Given the description of an element on the screen output the (x, y) to click on. 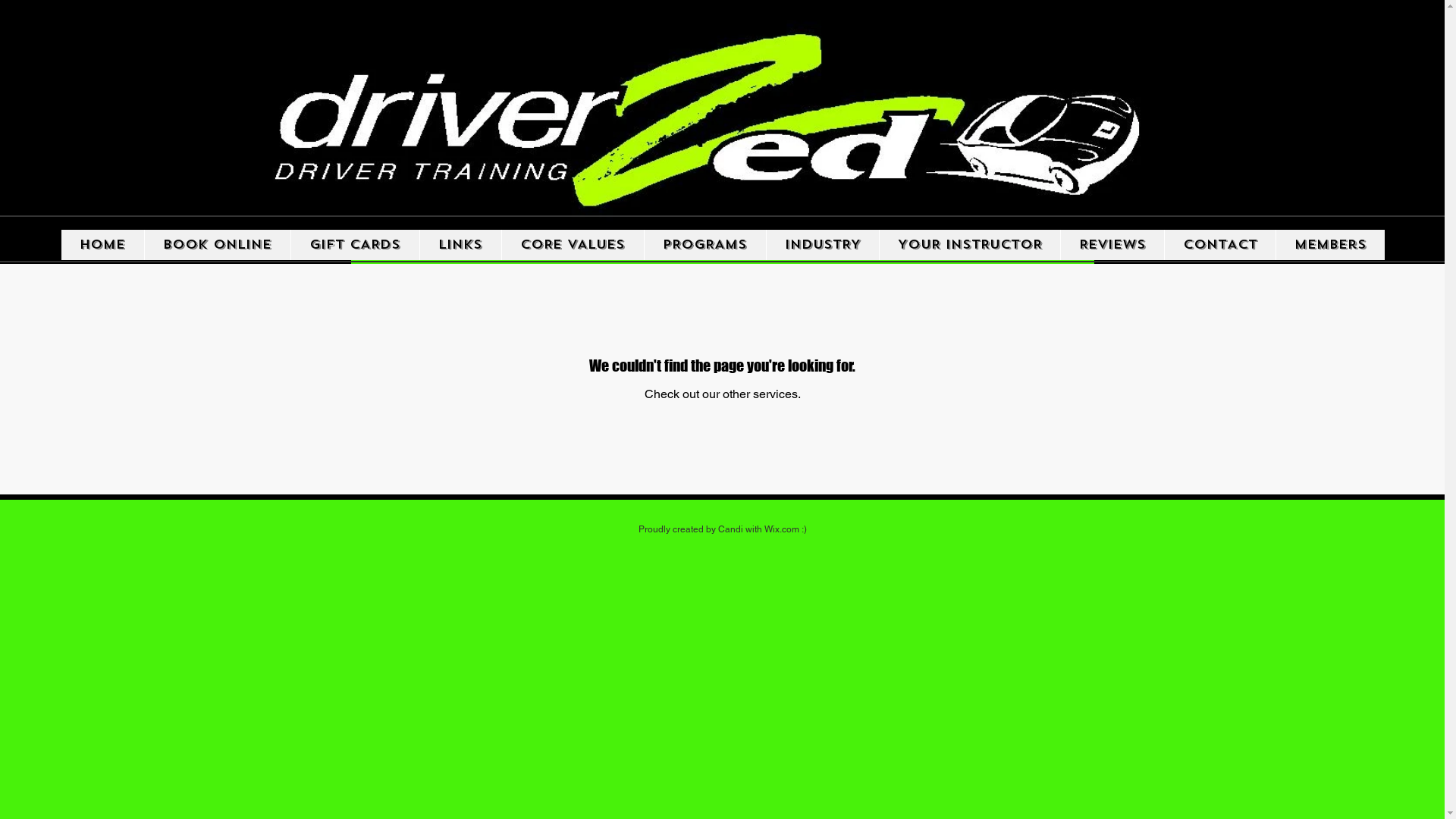
Members Element type: text (1329, 244)
YOUR INSTRUCTOR Element type: text (968, 244)
LINKS Element type: text (459, 244)
Wix.com :) Element type: text (785, 529)
BOOK ONLINE Element type: text (217, 244)
CONTACT Element type: text (1218, 244)
GIFT CARDS Element type: text (353, 244)
INDUSTRY Element type: text (821, 244)
REVIEWS Element type: text (1112, 244)
HOME Element type: text (101, 244)
CORE VALUES Element type: text (571, 244)
PROGRAMS Element type: text (704, 244)
